Given the description of an element on the screen output the (x, y) to click on. 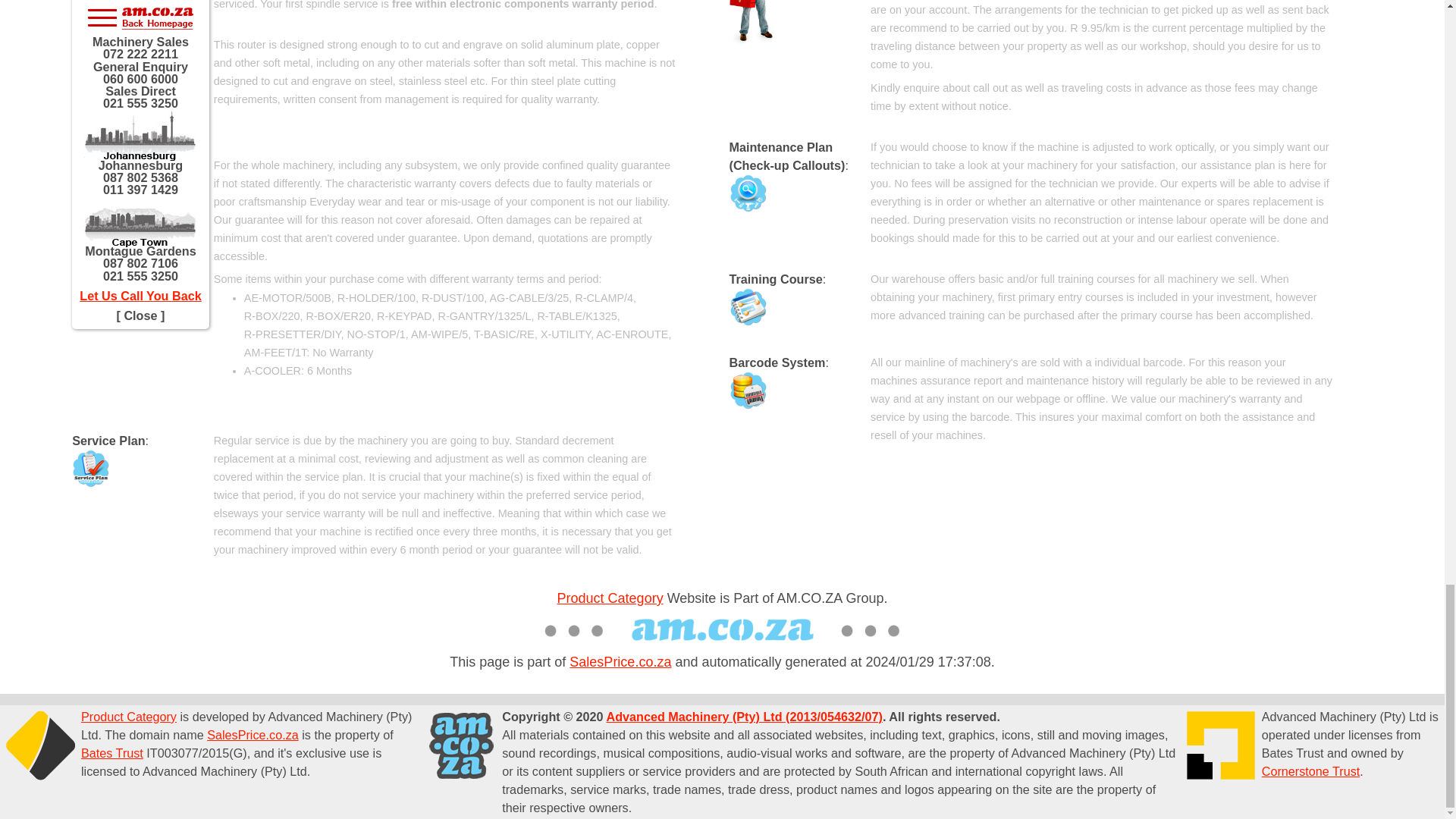
SalesPrice.co.za (252, 735)
SalesPrice.co.za (620, 661)
Bates Trust (111, 753)
Product Category (128, 716)
Cornerstone Trust (1310, 771)
Product Category (610, 598)
